Given the description of an element on the screen output the (x, y) to click on. 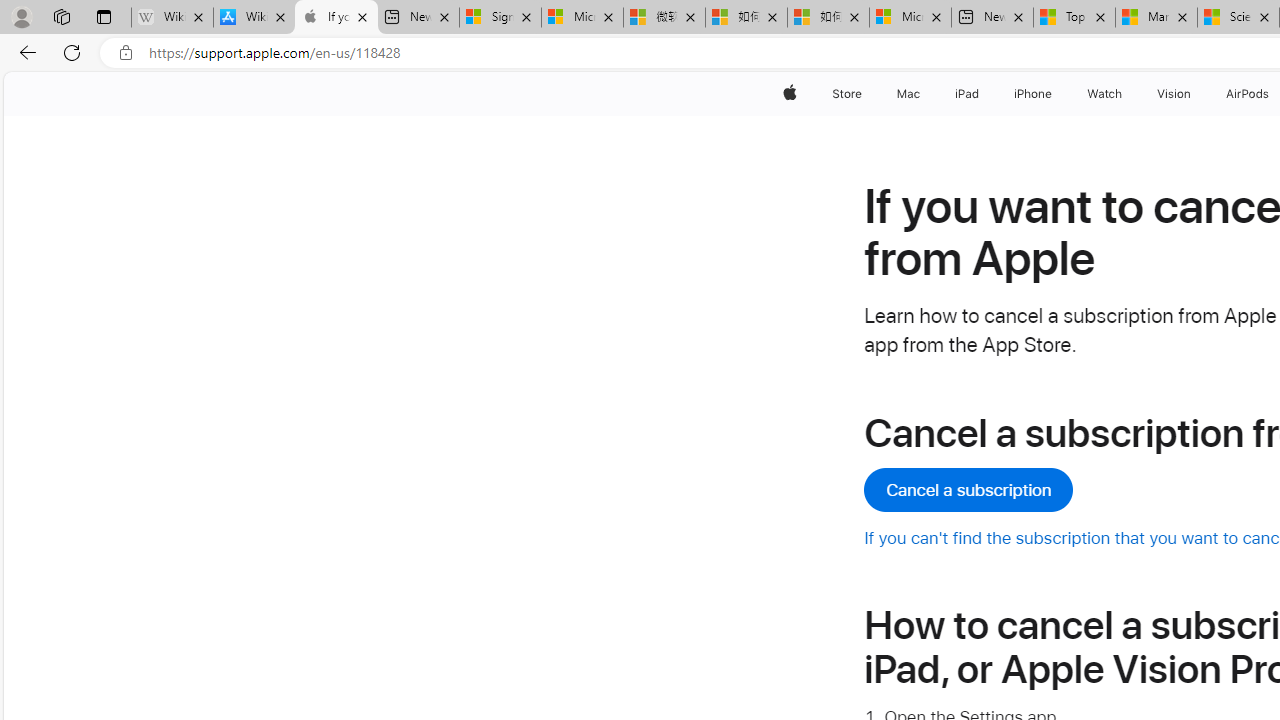
Class: globalnav-submenu-trigger-item (1195, 93)
Microsoft account | Account Checkup (910, 17)
Mac (908, 93)
iPhone (1033, 93)
iPhone (1033, 93)
Watch menu (1125, 93)
Mac (908, 93)
Apple (789, 93)
